Given the description of an element on the screen output the (x, y) to click on. 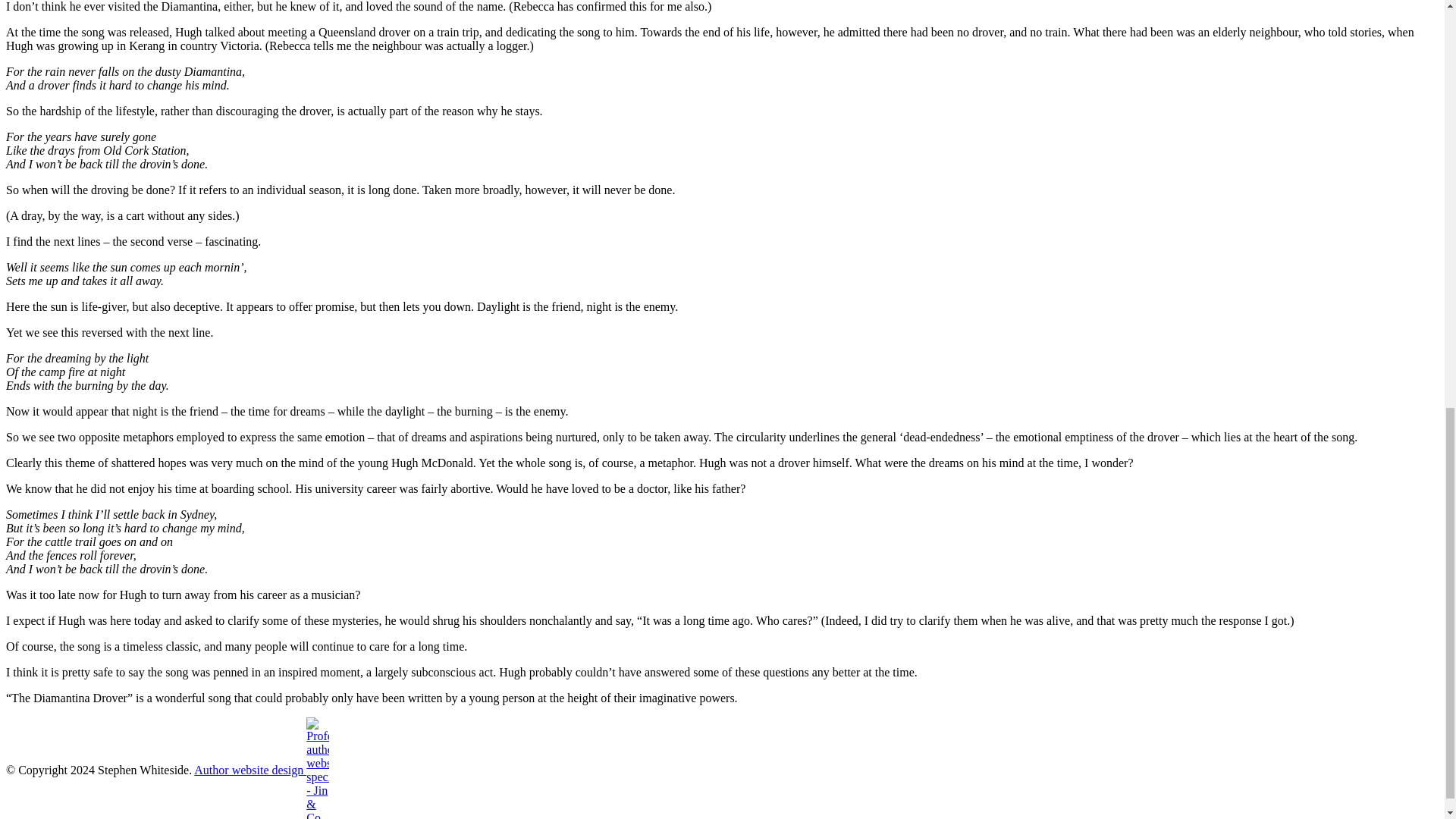
Author website design (261, 769)
